Given the description of an element on the screen output the (x, y) to click on. 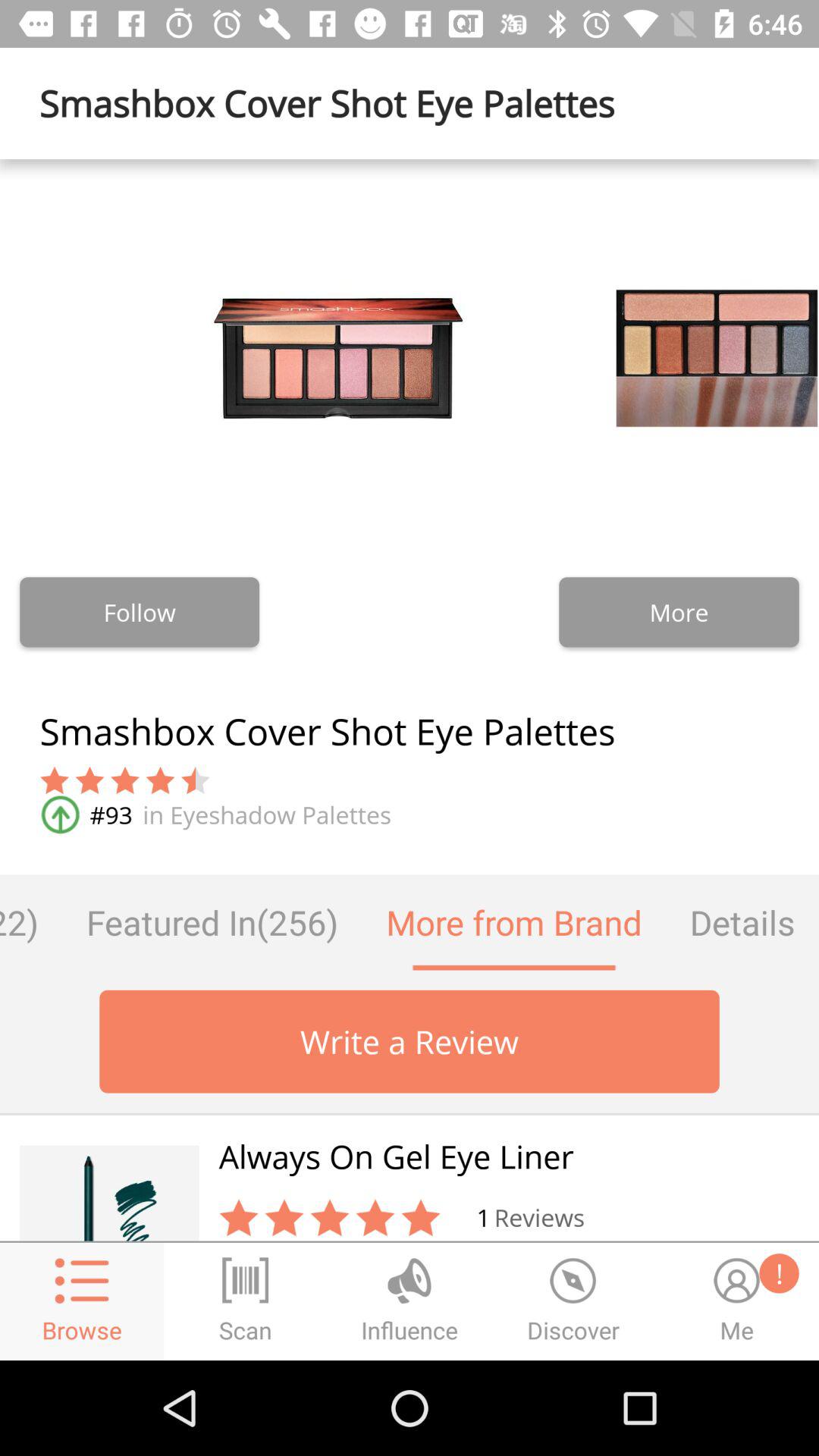
swipe to the questions (122) item (31, 922)
